Given the description of an element on the screen output the (x, y) to click on. 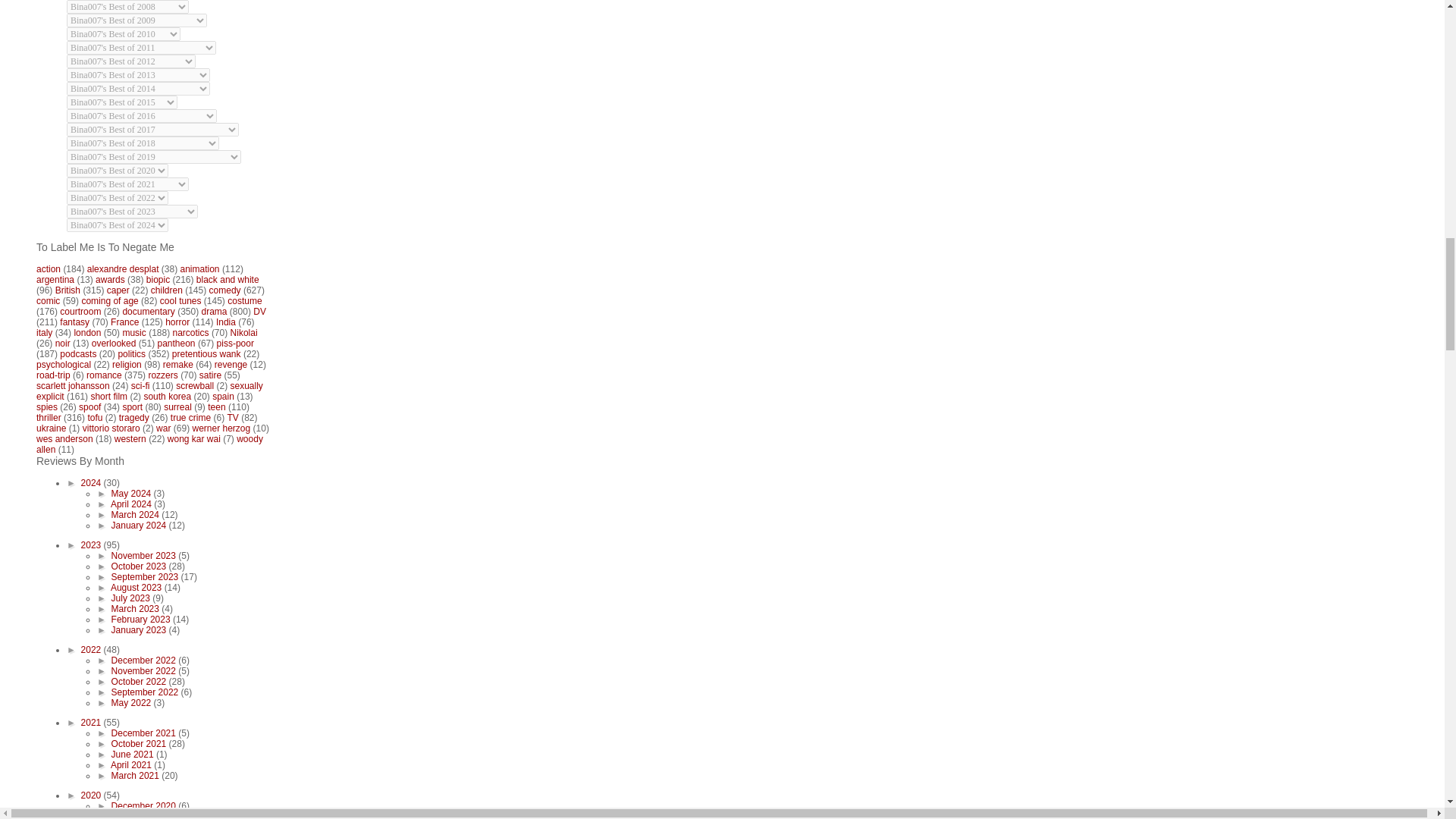
black and white (227, 279)
awards (110, 279)
alexandre desplat (122, 268)
biopic (158, 279)
action (48, 268)
caper (117, 290)
argentina (55, 279)
British (67, 290)
animation (199, 268)
